Given the description of an element on the screen output the (x, y) to click on. 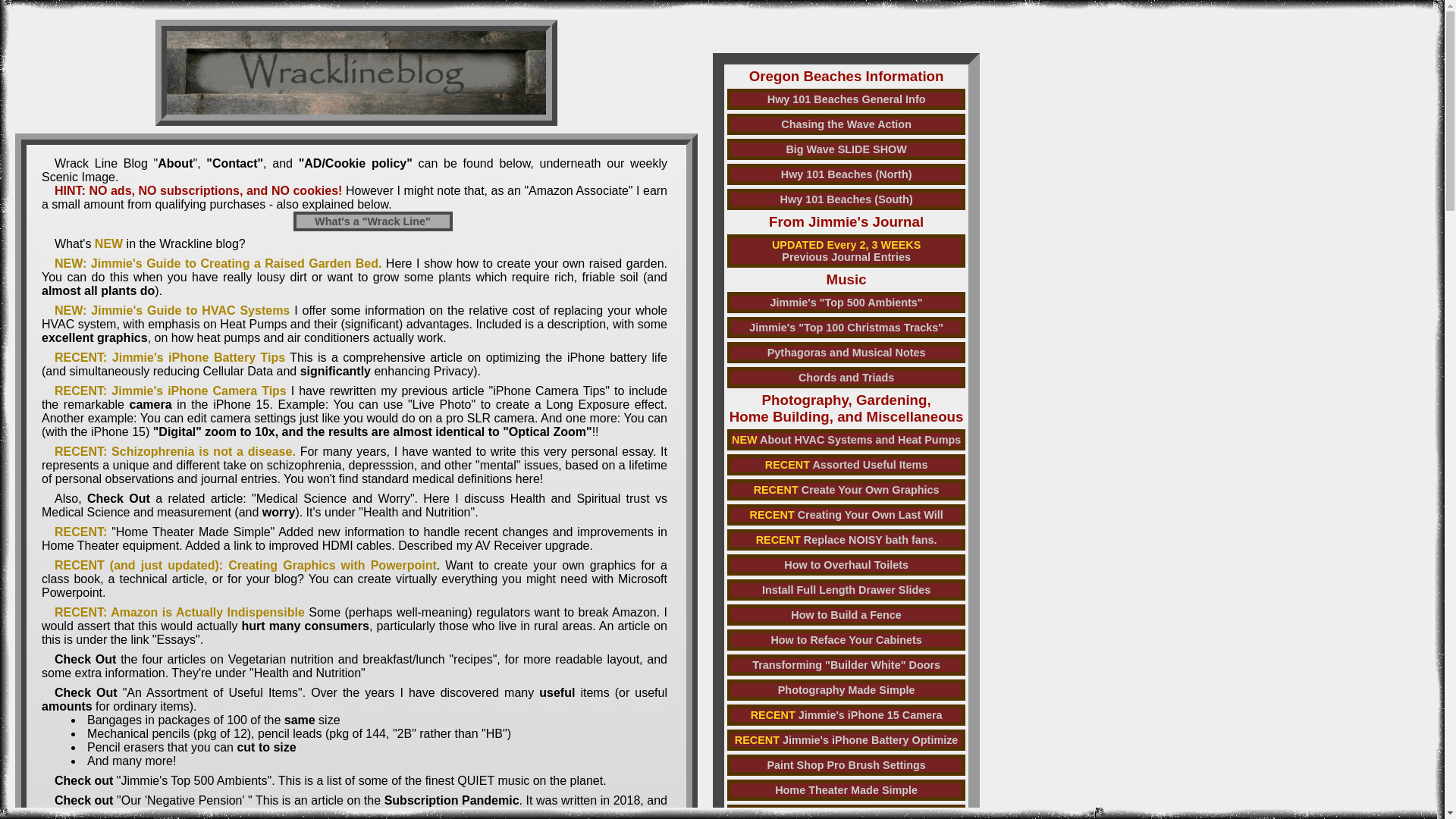
How to Build a Fence (845, 250)
RECENT Replace NOISY bath fans. (845, 614)
Jimmie's "Top 100 Christmas Tracks" (845, 539)
Hwy 101 Beaches General Info (845, 327)
NEW About HVAC Systems and Heat Pumps (845, 98)
Big Wave SLIDE SHOW (845, 439)
Photography Made Simple (845, 148)
Chasing the Wave Action (845, 690)
What's a "Wrack Line" (845, 124)
RECENT Create Your Own Graphics (371, 220)
Jimmie's "Top 500 Ambients" (845, 489)
Best Tip for Travel Packing (845, 301)
Transforming "Builder White" Doors (845, 811)
How to Overhaul Toilets (845, 664)
